Given the description of an element on the screen output the (x, y) to click on. 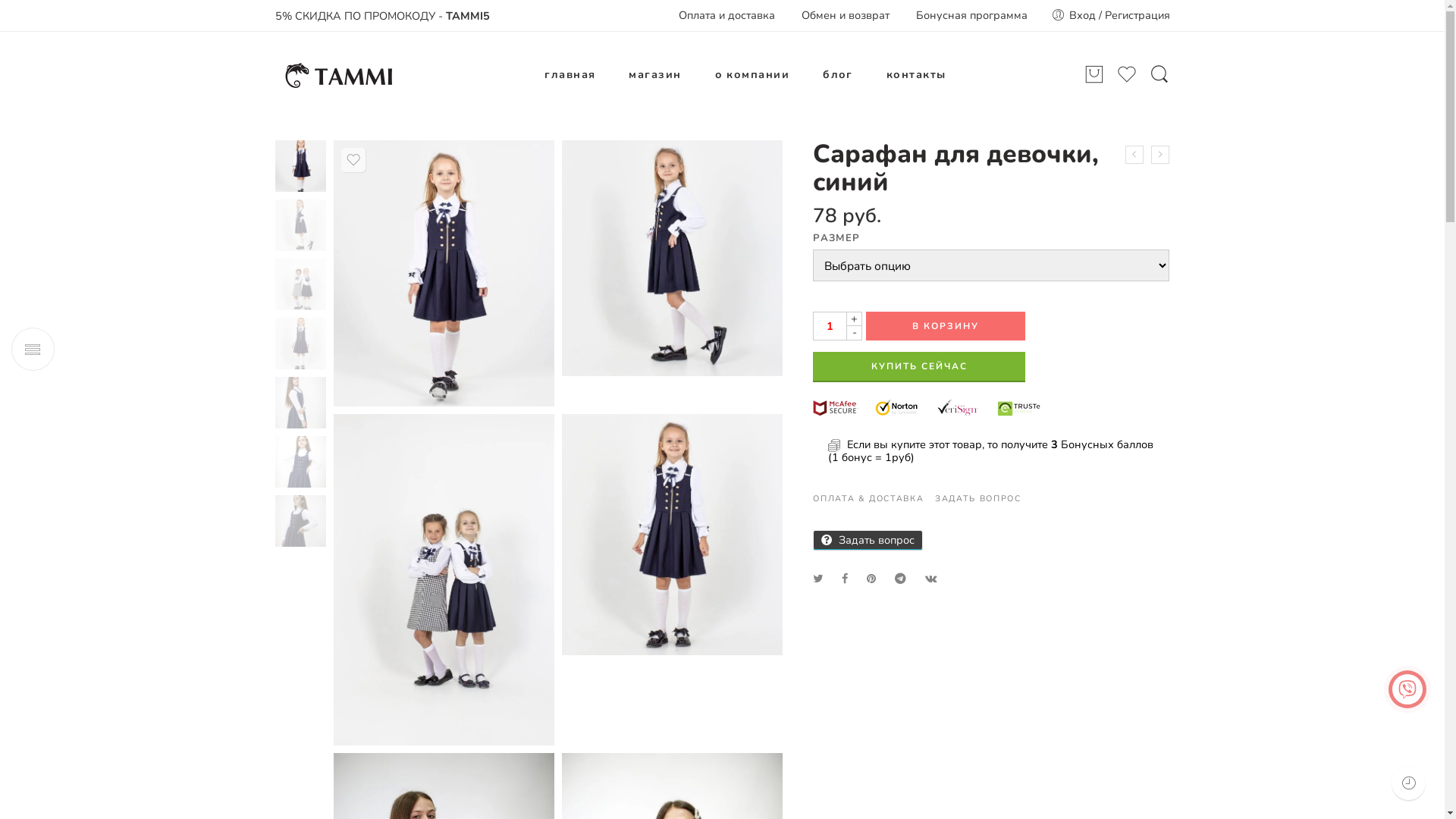
001 (80) Element type: hover (300, 164)
Share on VK Element type: hover (931, 578)
001 (80) Element type: hover (443, 273)
Share on Facebook Element type: hover (844, 578)
Share on Twitter Element type: hover (817, 578)
001 (442) Element type: hover (443, 579)
Share on Telegram Element type: hover (900, 578)
001 (68) Element type: hover (671, 258)
+ Element type: text (854, 318)
001 (85) Element type: hover (671, 534)
Pin on Pinterest Element type: hover (870, 578)
- Element type: text (854, 333)
Qty Element type: hover (829, 325)
